Given the description of an element on the screen output the (x, y) to click on. 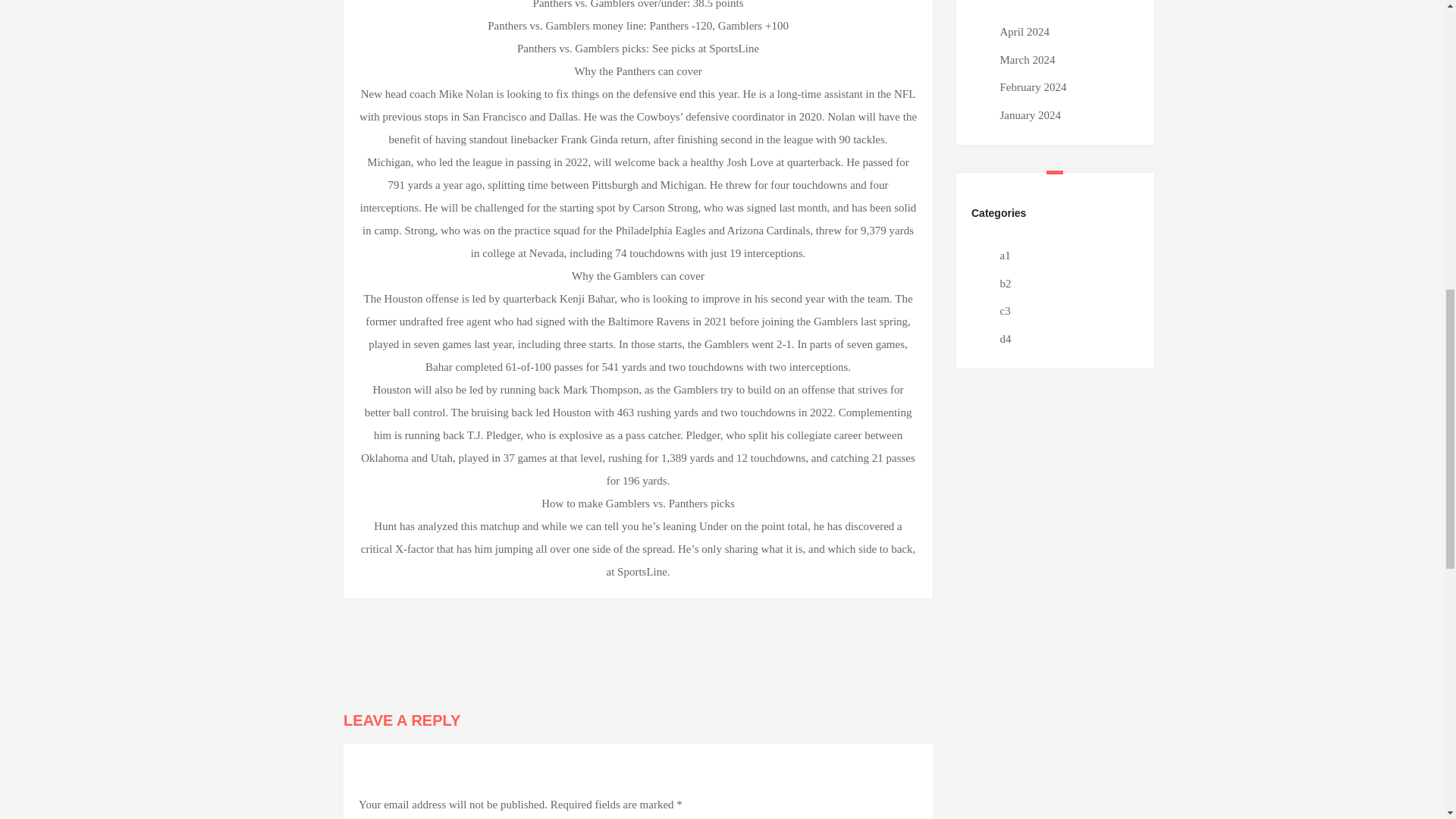
January 2024 (1028, 114)
c3 (1004, 310)
a1 (1004, 255)
b2 (1004, 283)
April 2024 (1023, 31)
March 2024 (1026, 60)
February 2024 (1031, 87)
d4 (1004, 338)
